Given the description of an element on the screen output the (x, y) to click on. 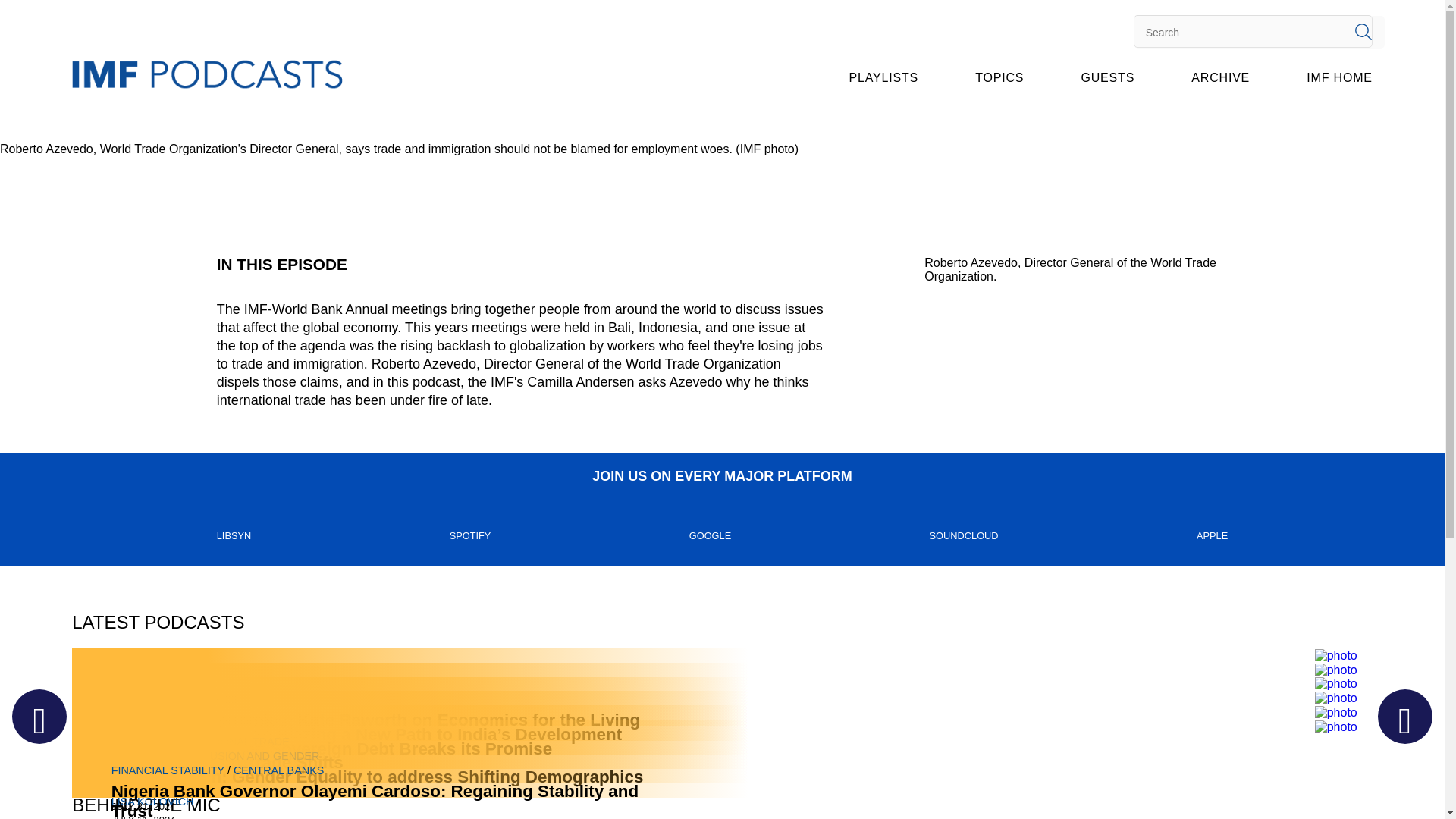
GLOBAL (133, 741)
GUESTS (1108, 77)
RAGHURAM RAJAN (163, 758)
IMF HOME (1338, 77)
APPLE (1211, 535)
ARCHIVE (1220, 77)
INCLUSION AND GENDER (252, 756)
MICHELE RUTA (152, 787)
